Given the description of an element on the screen output the (x, y) to click on. 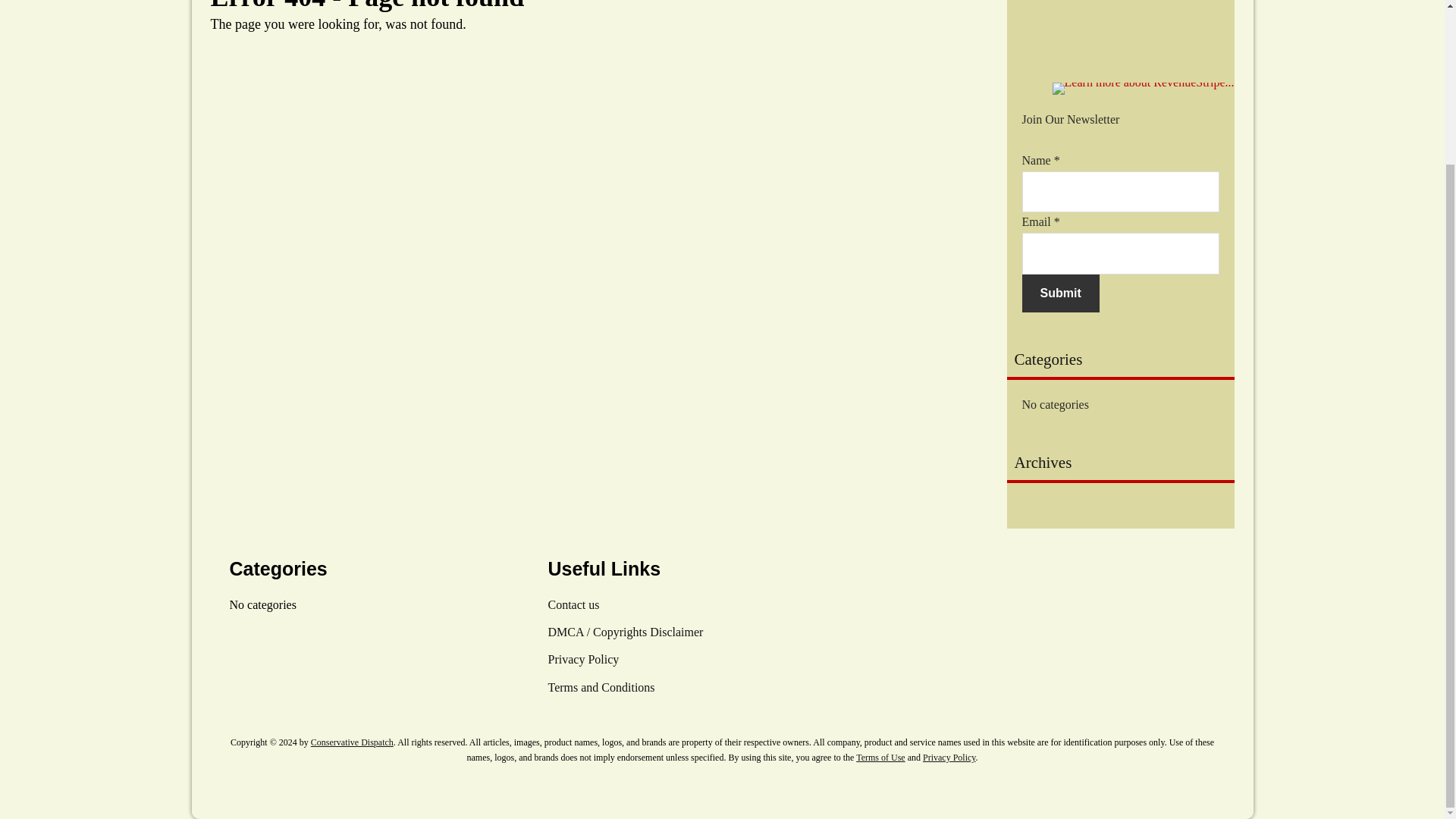
Terms of Use (880, 757)
Submit (1060, 293)
Privacy Policy (949, 757)
Contact us (572, 604)
Privacy Policy (582, 658)
Terms and Conditions (600, 686)
Conservative Dispatch (352, 742)
